Given the description of an element on the screen output the (x, y) to click on. 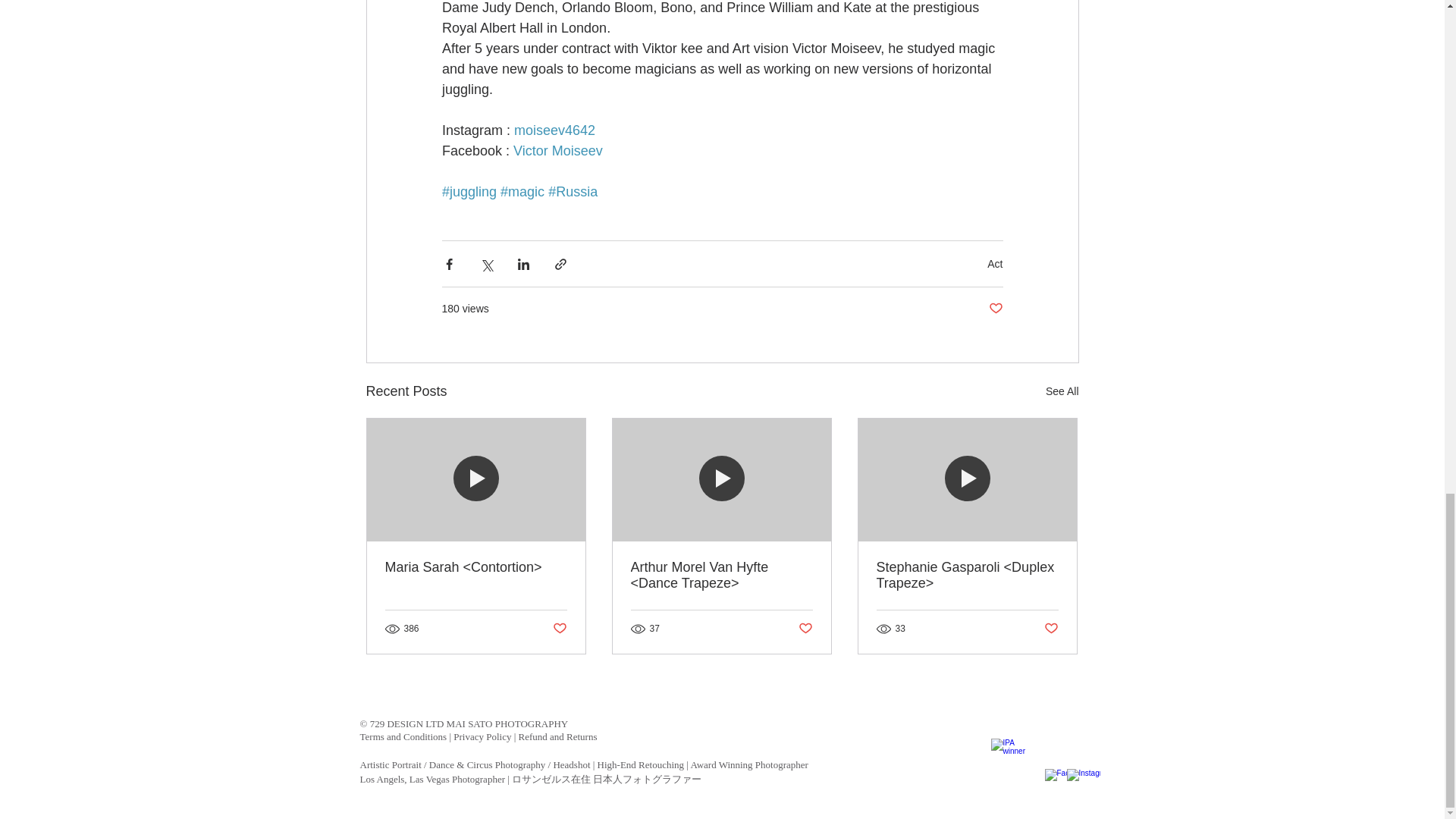
Victor Moiseev (557, 150)
moiseev4642 (554, 130)
